Given the description of an element on the screen output the (x, y) to click on. 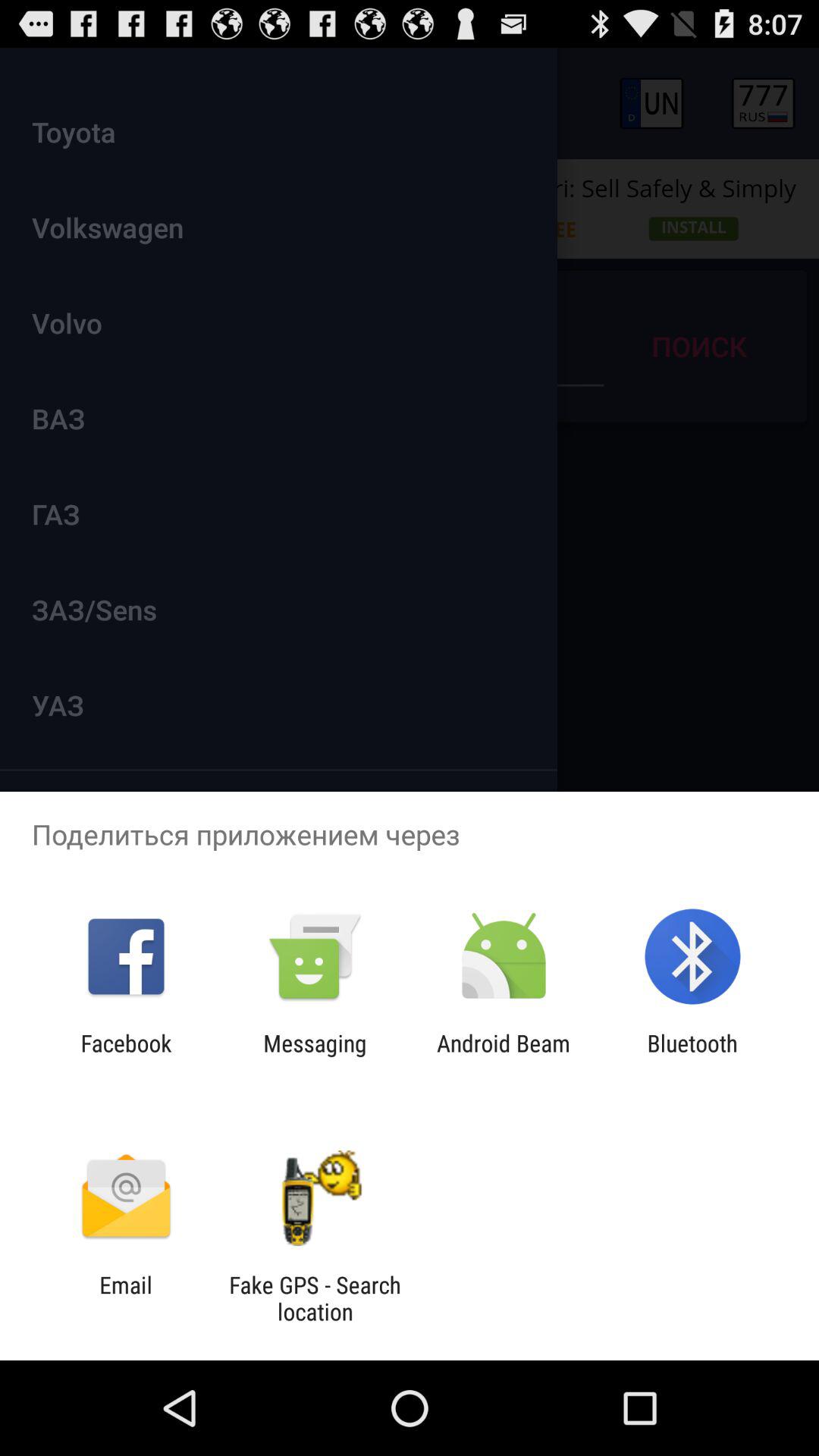
turn off the app next to email app (314, 1298)
